Given the description of an element on the screen output the (x, y) to click on. 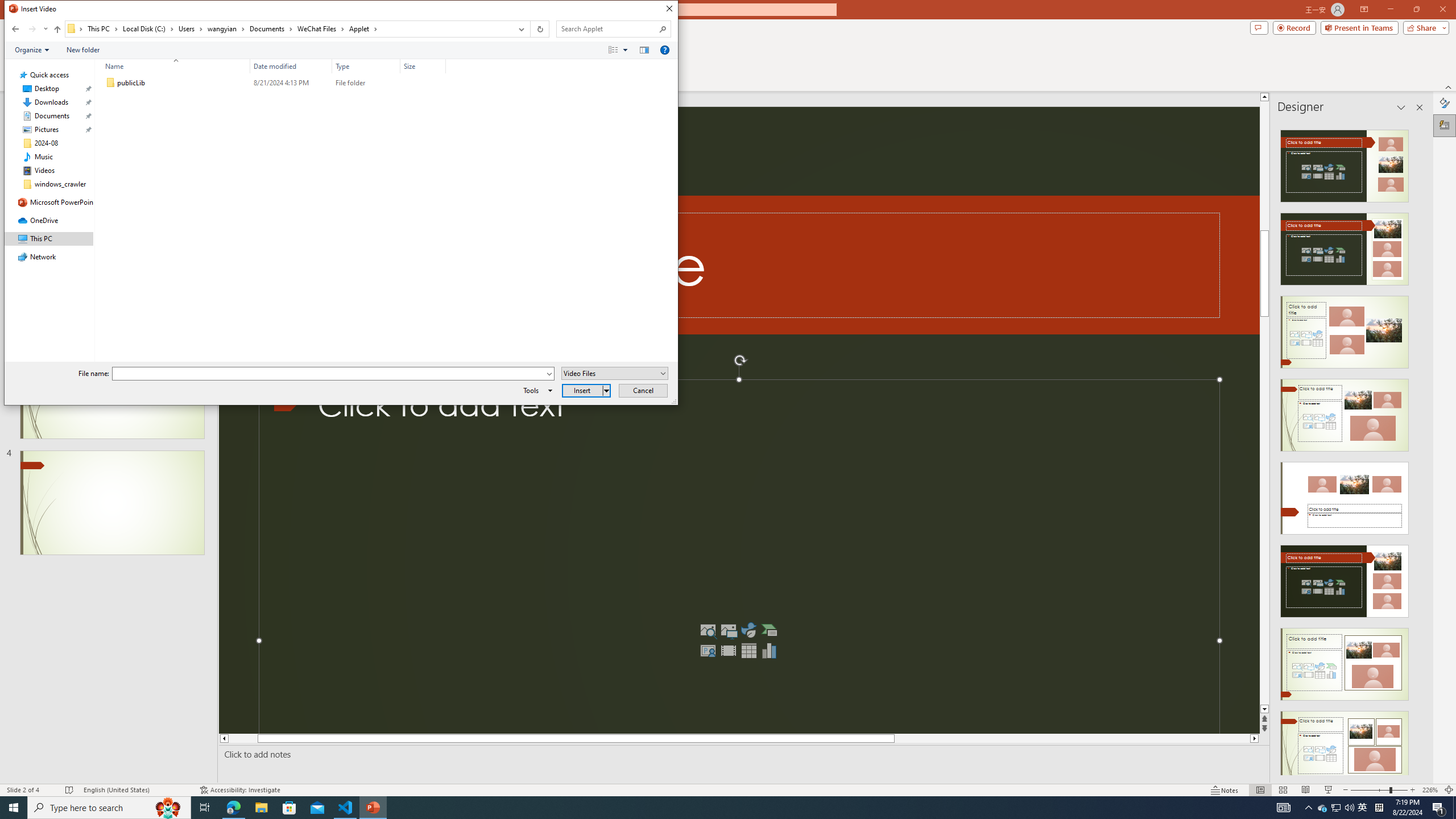
Type (365, 82)
Local Disk (C:) (148, 28)
Organize (31, 49)
Command Module (341, 49)
Search Box (607, 28)
Insert an Icon (748, 629)
Address: C:\Users\wangyian\Documents\WeChat Files\Applet (288, 28)
